Given the description of an element on the screen output the (x, y) to click on. 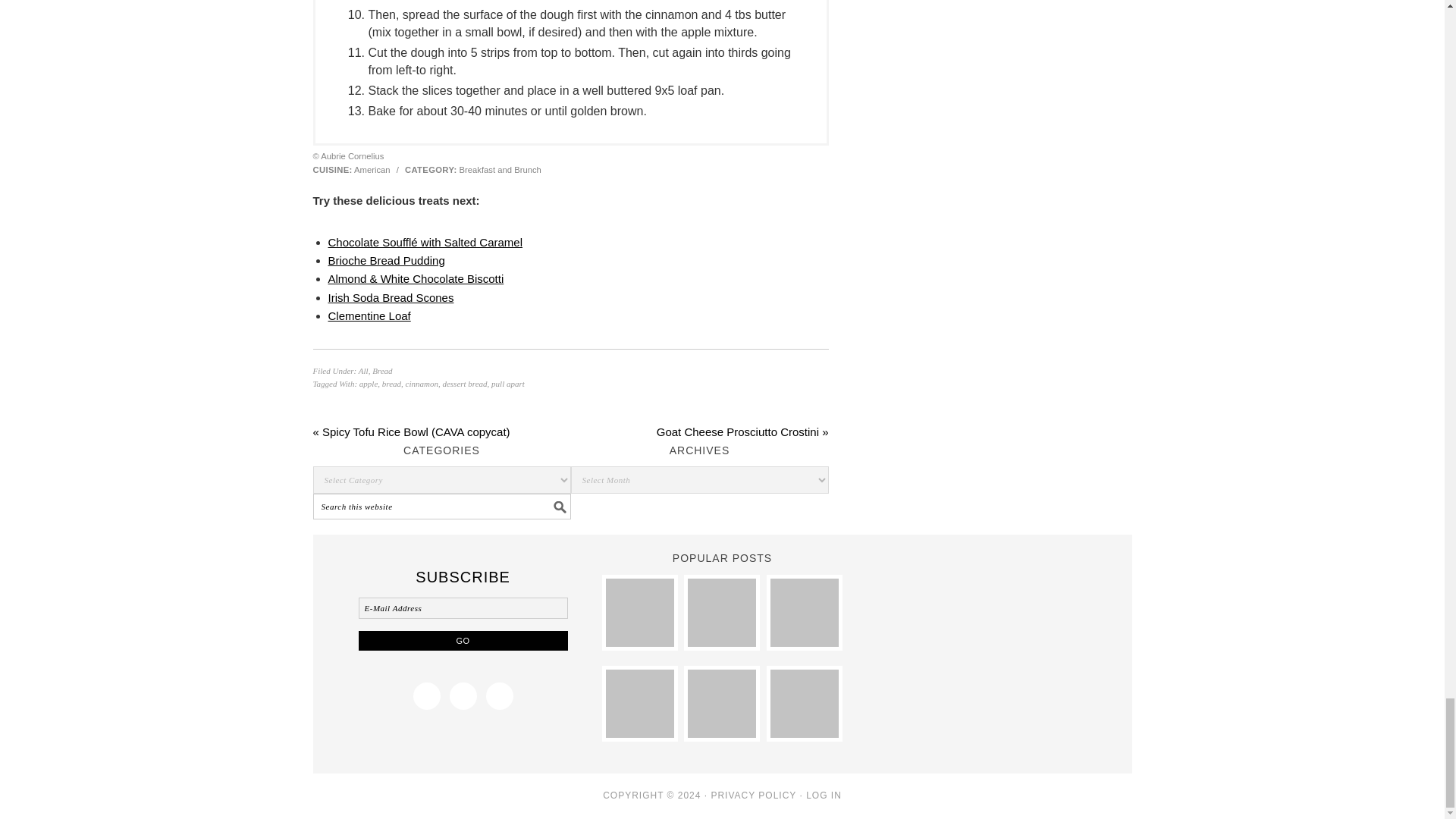
cinnamon (422, 383)
Bread (381, 370)
Irish Soda Bread Scones (389, 297)
apple (368, 383)
Go (462, 640)
pull apart (508, 383)
All (363, 370)
Power Breakfast Bowl (804, 703)
Clementine Loaf (368, 315)
Super Green Salad with Crazy Feta and Cilantro-Lime Dressing (639, 703)
dessert bread (464, 383)
